Given the description of an element on the screen output the (x, y) to click on. 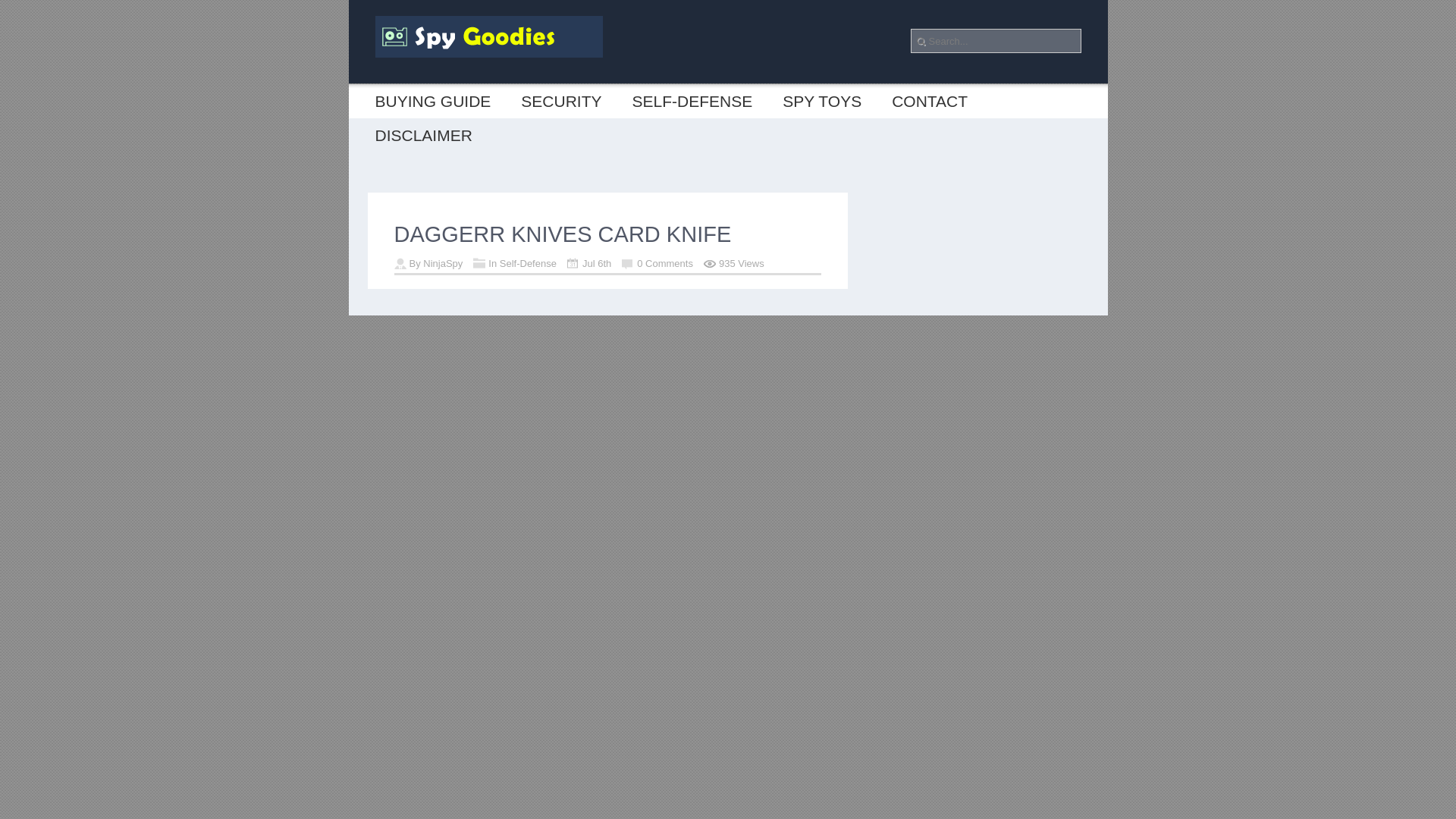
DISCLAIMER (422, 134)
BUYING GUIDE (432, 100)
SECURITY (560, 100)
